Given the description of an element on the screen output the (x, y) to click on. 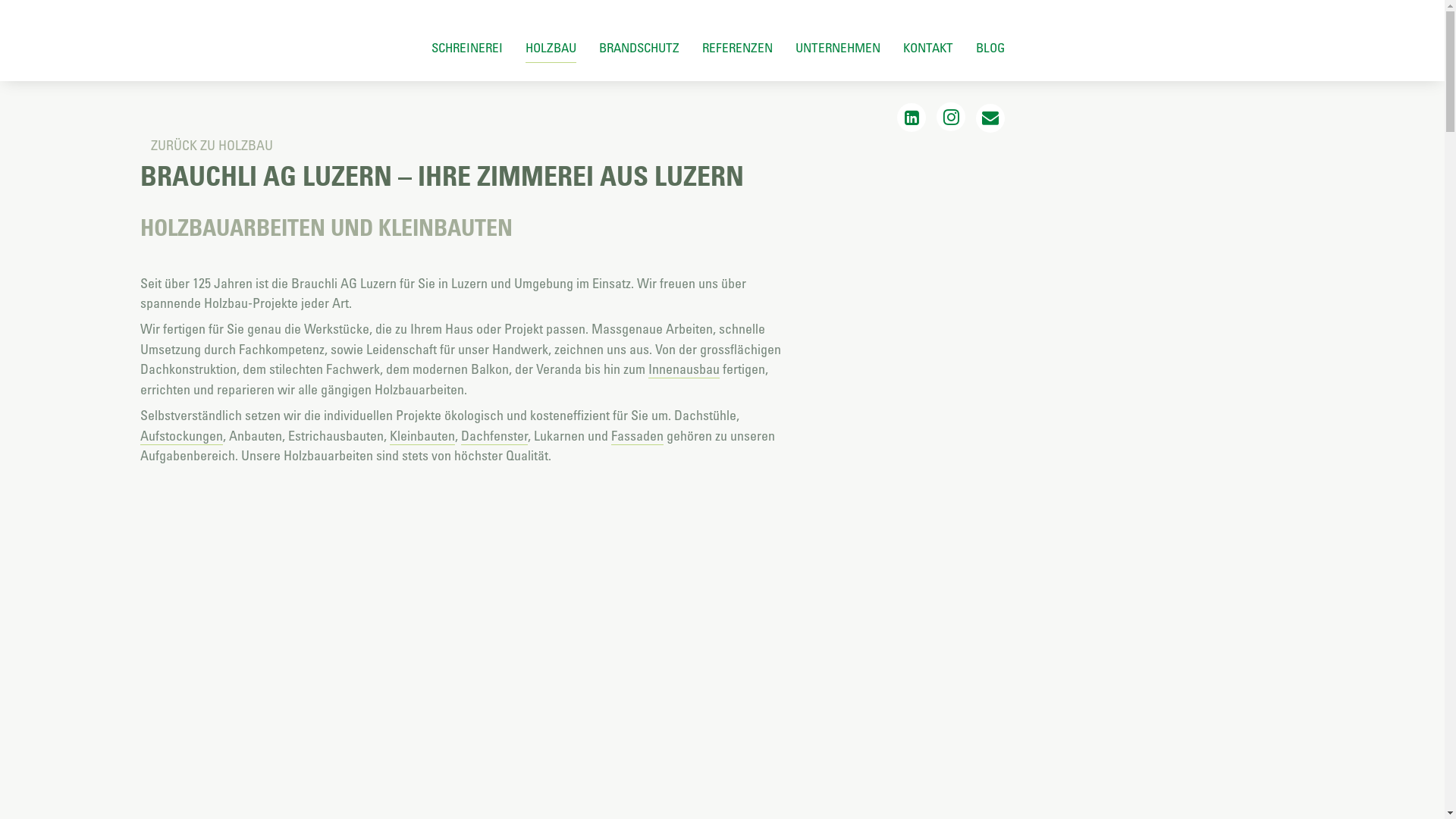
HOLZBAU Element type: text (550, 46)
Instagram Element type: hover (951, 116)
REFERENZEN Element type: text (737, 46)
KONTAKT Element type: text (927, 46)
Email Element type: hover (990, 117)
BLOG Element type: text (990, 46)
Dachfenster Element type: text (494, 435)
SCHREINEREI Element type: text (467, 46)
Kleinbauten Element type: text (422, 435)
Innenausbau Element type: text (683, 369)
Fassaden Element type: text (637, 435)
Aufstockungen Element type: text (181, 435)
BRANDSCHUTZ Element type: text (638, 46)
UNTERNEHMEN Element type: text (837, 46)
LinkedIn Element type: hover (910, 117)
